Given the description of an element on the screen output the (x, y) to click on. 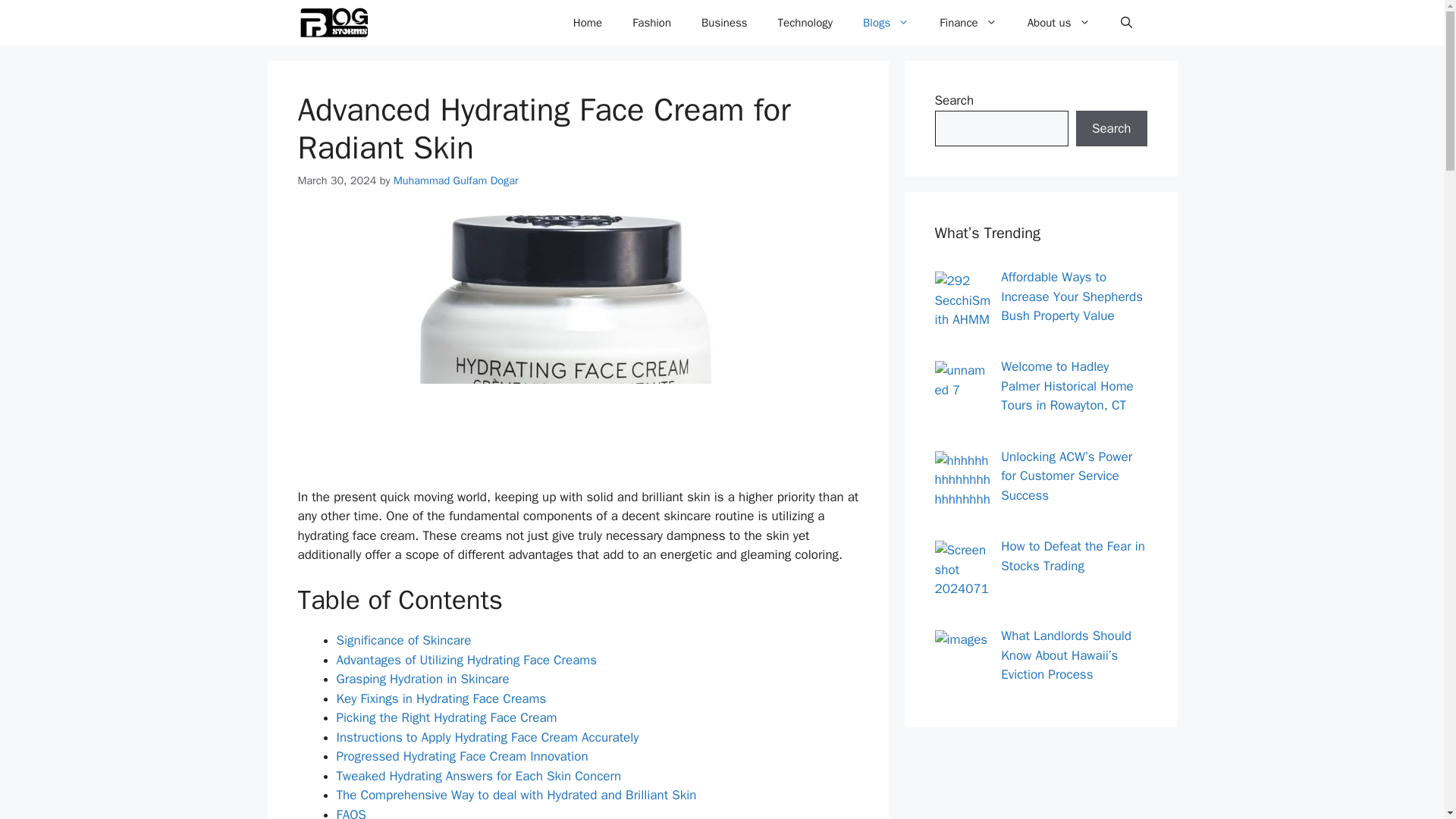
blogstorms (333, 22)
Blogs (885, 22)
Business (723, 22)
Picking the Right Hydrating Face Cream (446, 717)
Instructions to Apply Hydrating Face Cream Accurately (487, 737)
Search (1111, 128)
Technology (805, 22)
Significance of Skincare (403, 640)
About us (1058, 22)
